Given the description of an element on the screen output the (x, y) to click on. 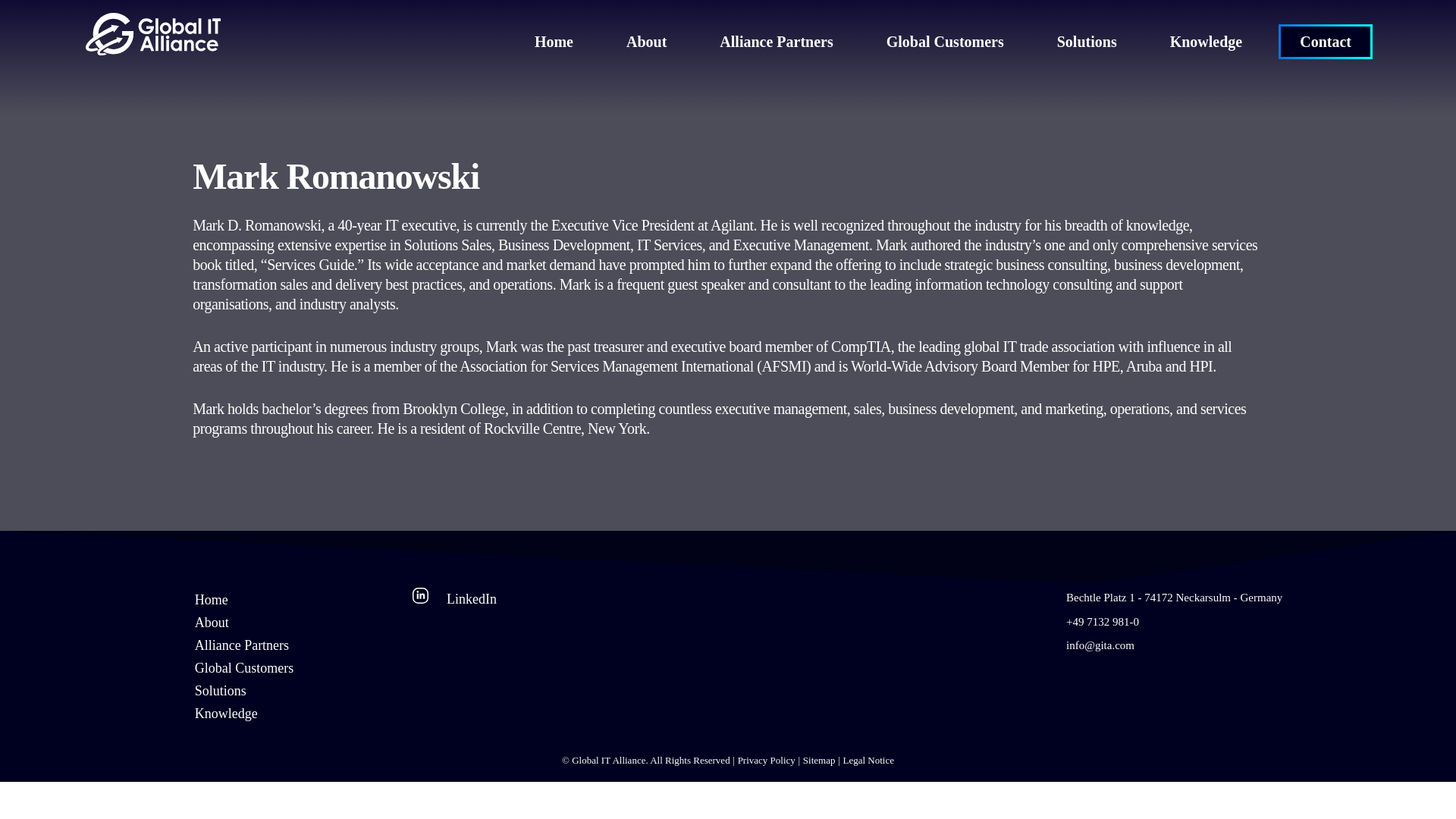
Knowledge (226, 713)
Global Customers (244, 667)
Legal Notice (863, 760)
About (211, 622)
Alliance Partners (241, 645)
Knowledge (1206, 41)
Sitemap (814, 760)
About (646, 41)
GITA (153, 48)
Home (553, 41)
Home (211, 599)
Solutions (220, 690)
Alliance Partners (775, 41)
Global Customers (945, 41)
Solutions (1086, 41)
